Given the description of an element on the screen output the (x, y) to click on. 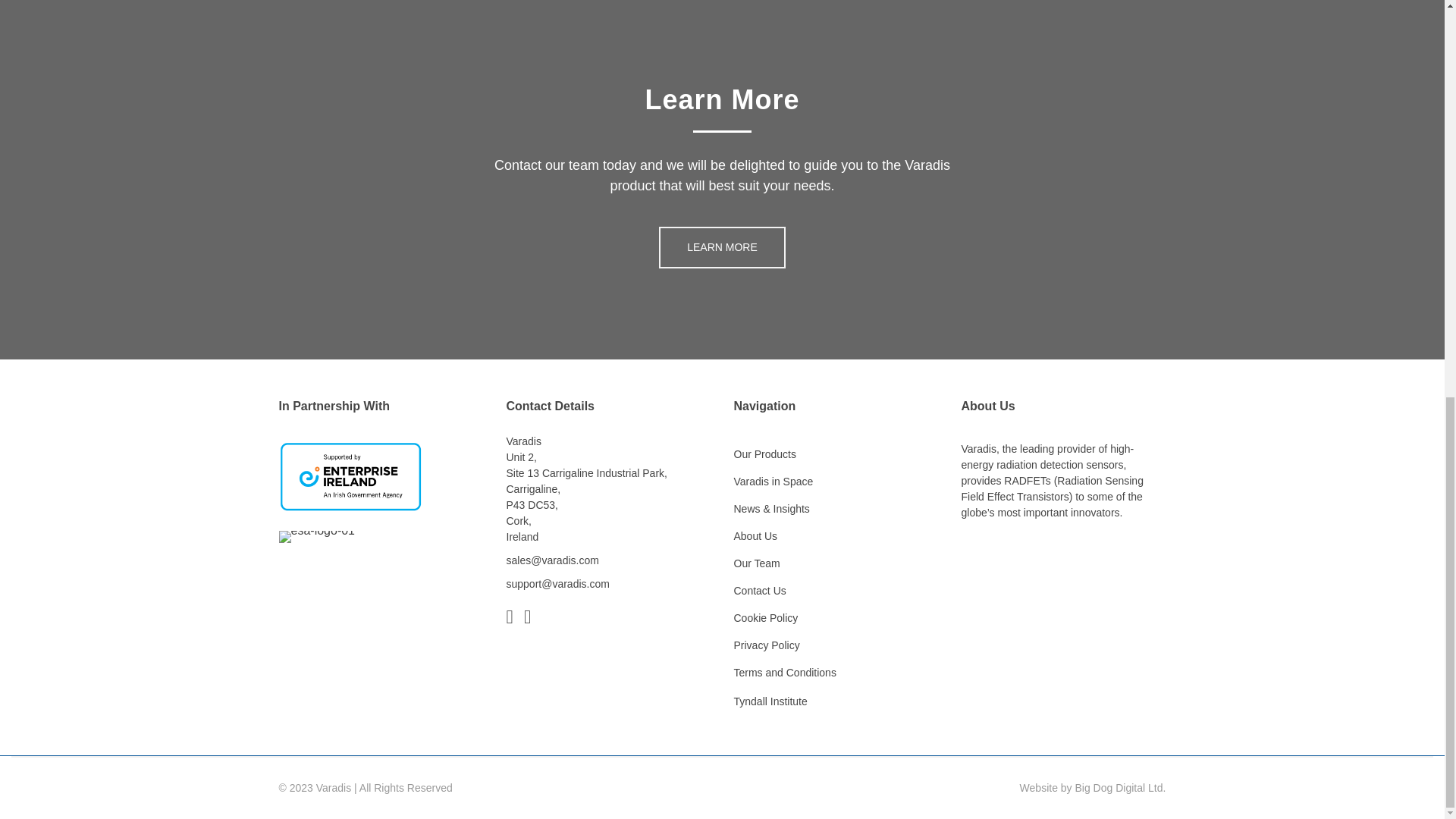
Privacy Policy (836, 645)
LEARN MORE (722, 247)
Contact Us (836, 591)
esa-logo-01 (317, 536)
Tyndall Institute (770, 701)
Cookie Policy (836, 618)
Our Products (836, 454)
Big Dog Digital (1110, 787)
Terms and Conditions (836, 673)
About Us (836, 536)
Our Team (836, 563)
Varadis in Space (836, 481)
